Given the description of an element on the screen output the (x, y) to click on. 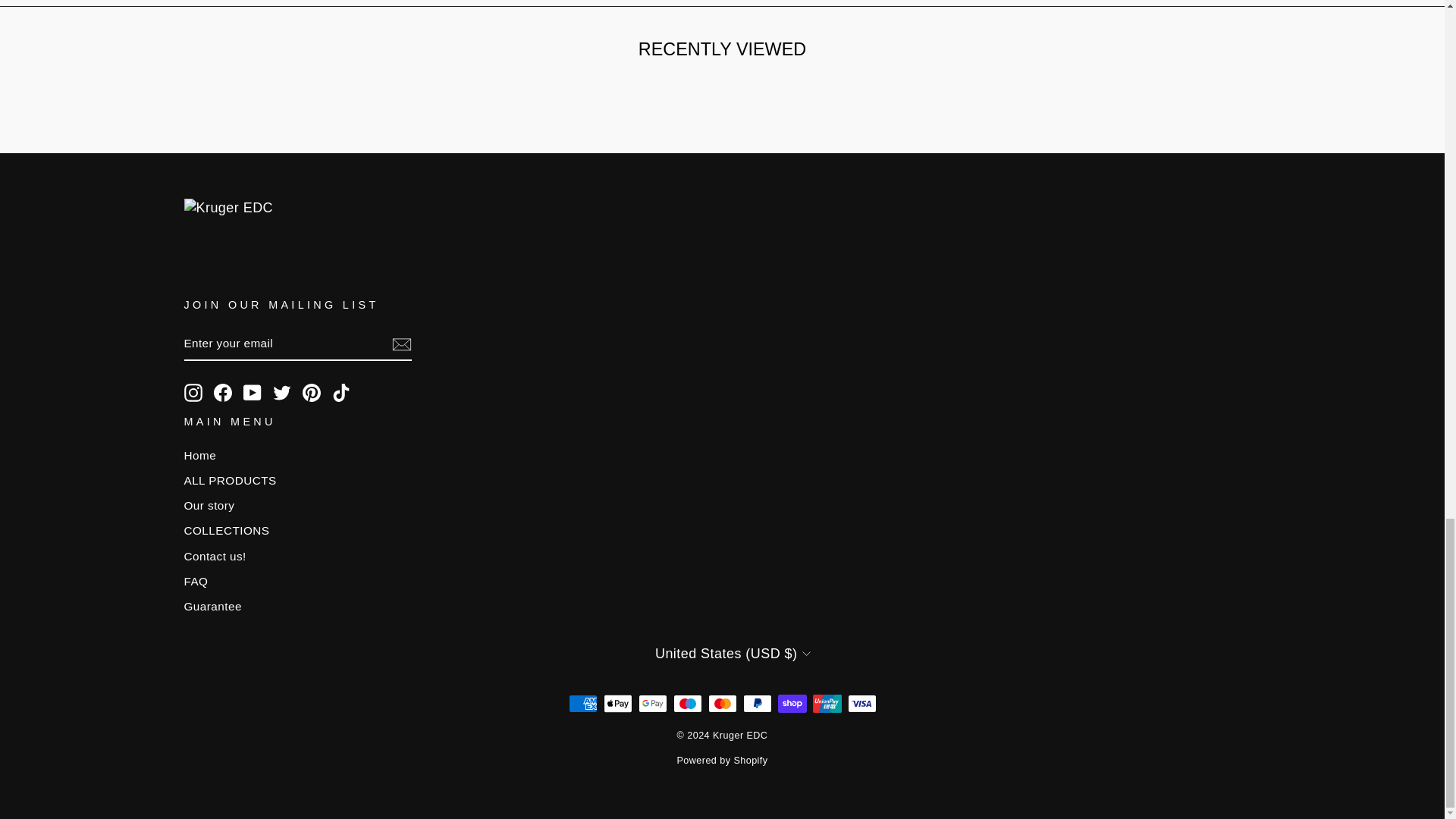
Kruger EDC on Facebook (222, 393)
Kruger EDC on YouTube (251, 393)
Kruger EDC on Pinterest (310, 393)
Google Pay (652, 703)
Kruger EDC on Twitter (282, 393)
Apple Pay (617, 703)
American Express (582, 703)
Kruger EDC on TikTok (340, 393)
Kruger EDC on Instagram (192, 393)
